Given the description of an element on the screen output the (x, y) to click on. 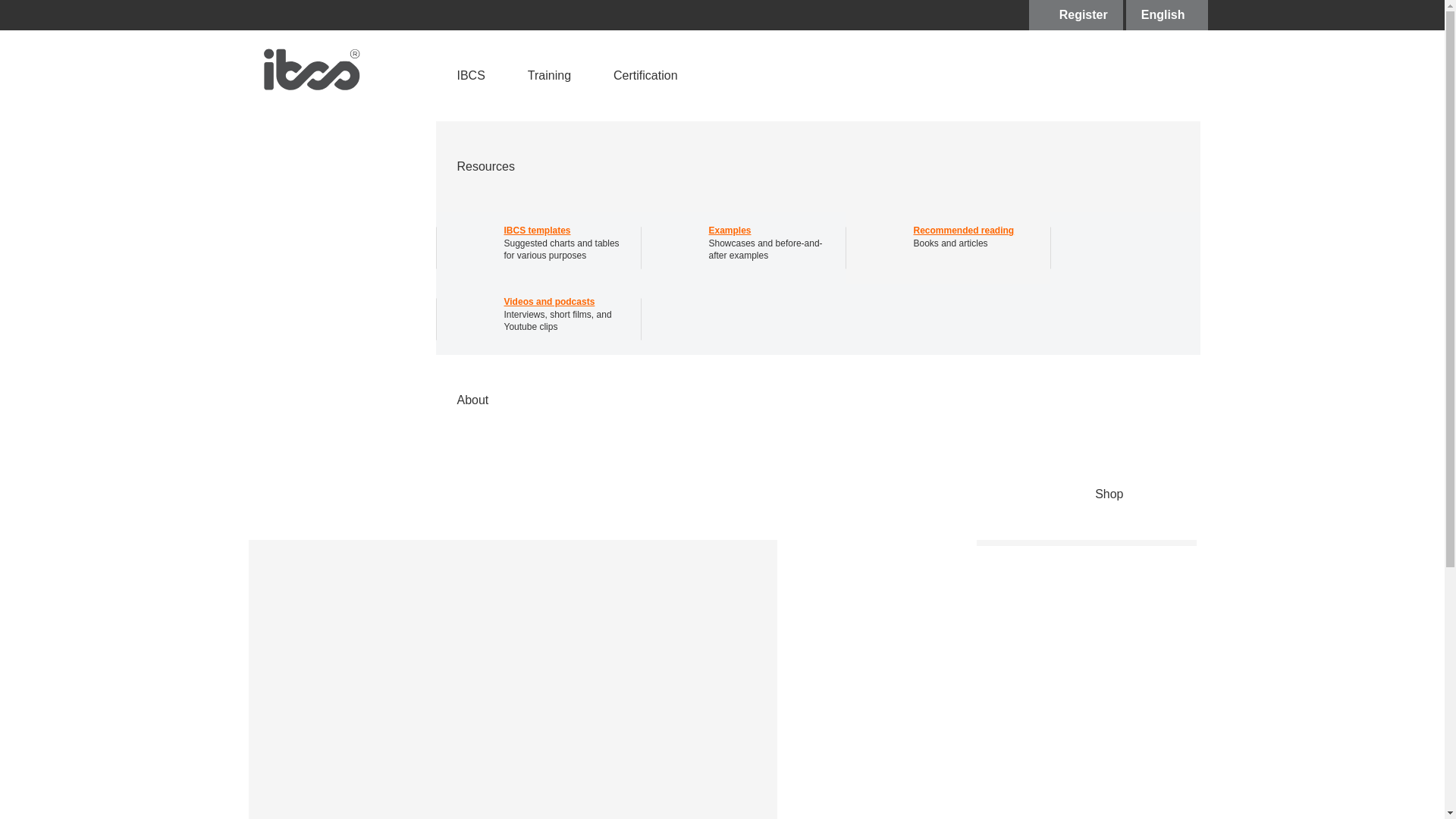
English (946, 247)
Buy on Amazon (1166, 15)
ibcs (469, 235)
Certification (976, 15)
English (645, 75)
View profile (1166, 15)
Register (1012, 256)
